Given the description of an element on the screen output the (x, y) to click on. 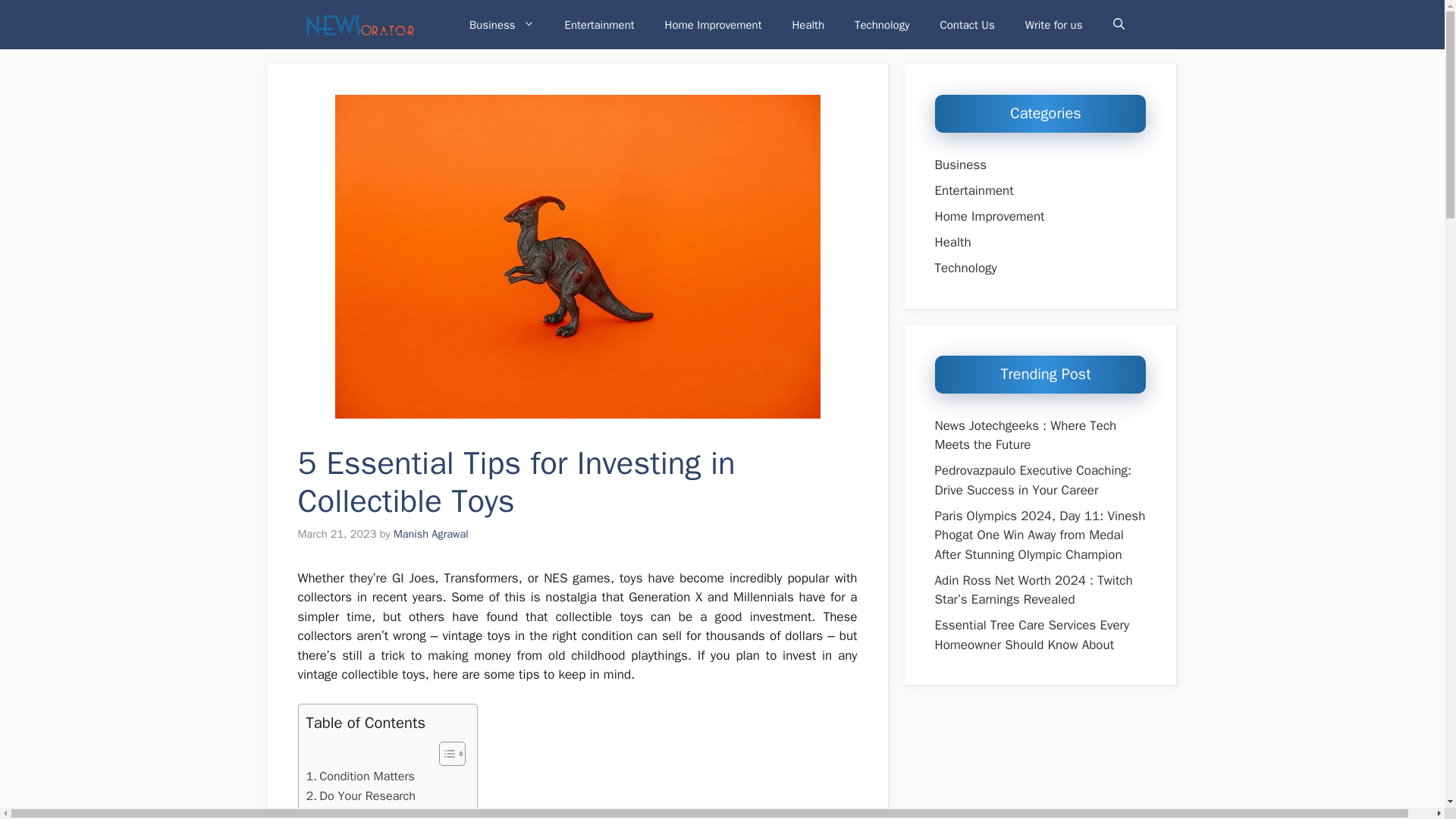
Technology (882, 23)
Home Improvement (713, 23)
Contact Us (967, 23)
Health (808, 23)
Do Your Research (359, 795)
Manish Agrawal (430, 533)
Know Where to Shop (367, 812)
Entertainment (599, 23)
Write for us (1053, 23)
Do Your Research (359, 795)
